Given the description of an element on the screen output the (x, y) to click on. 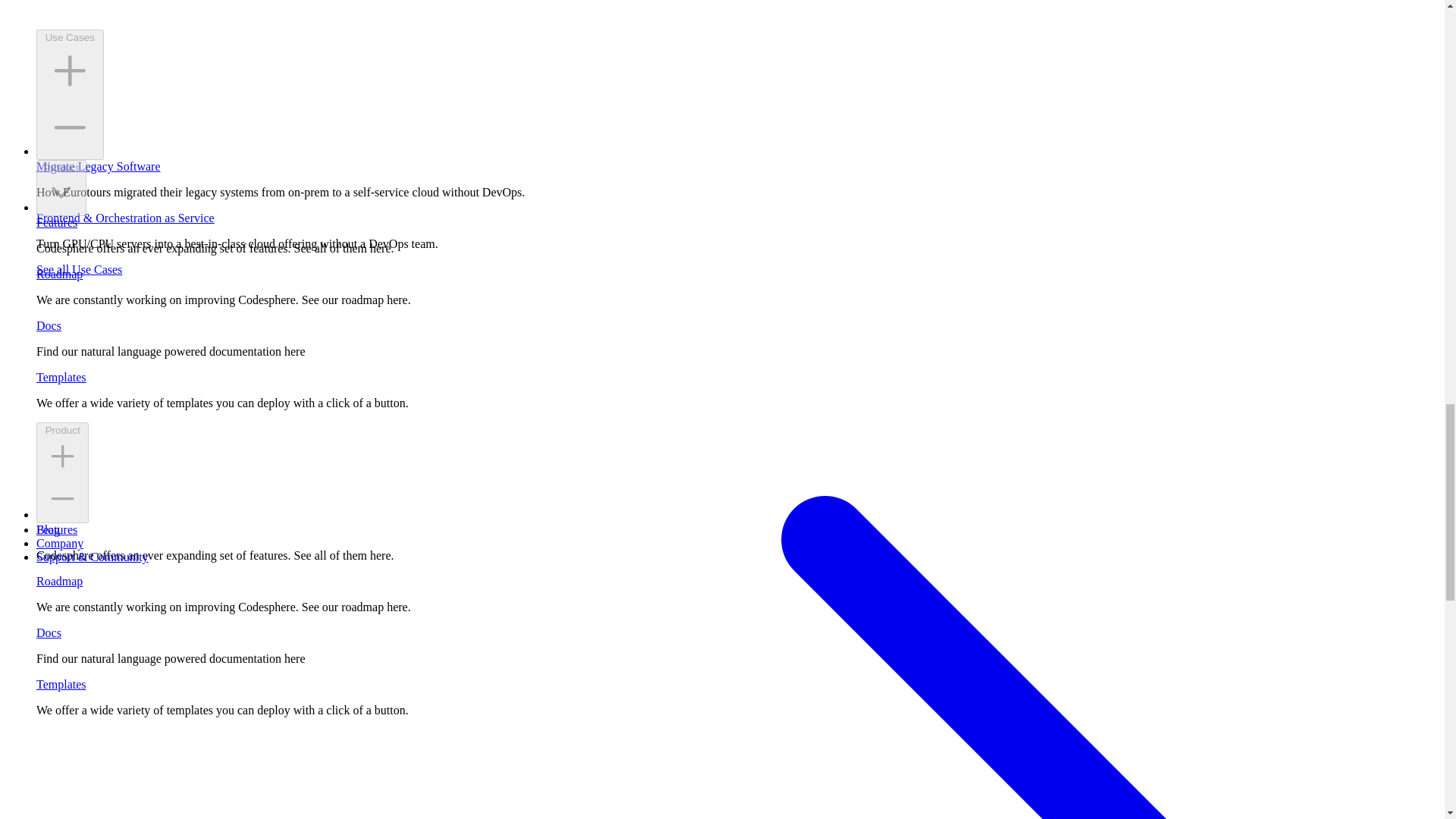
Roadmap (59, 273)
Docs (48, 325)
Docs (48, 632)
Product (60, 187)
Templates (60, 377)
Features (56, 529)
Templates (60, 684)
Company (59, 543)
Roadmap (59, 581)
Migrate Legacy Software (98, 165)
Blog (47, 529)
Features (56, 222)
